Given the description of an element on the screen output the (x, y) to click on. 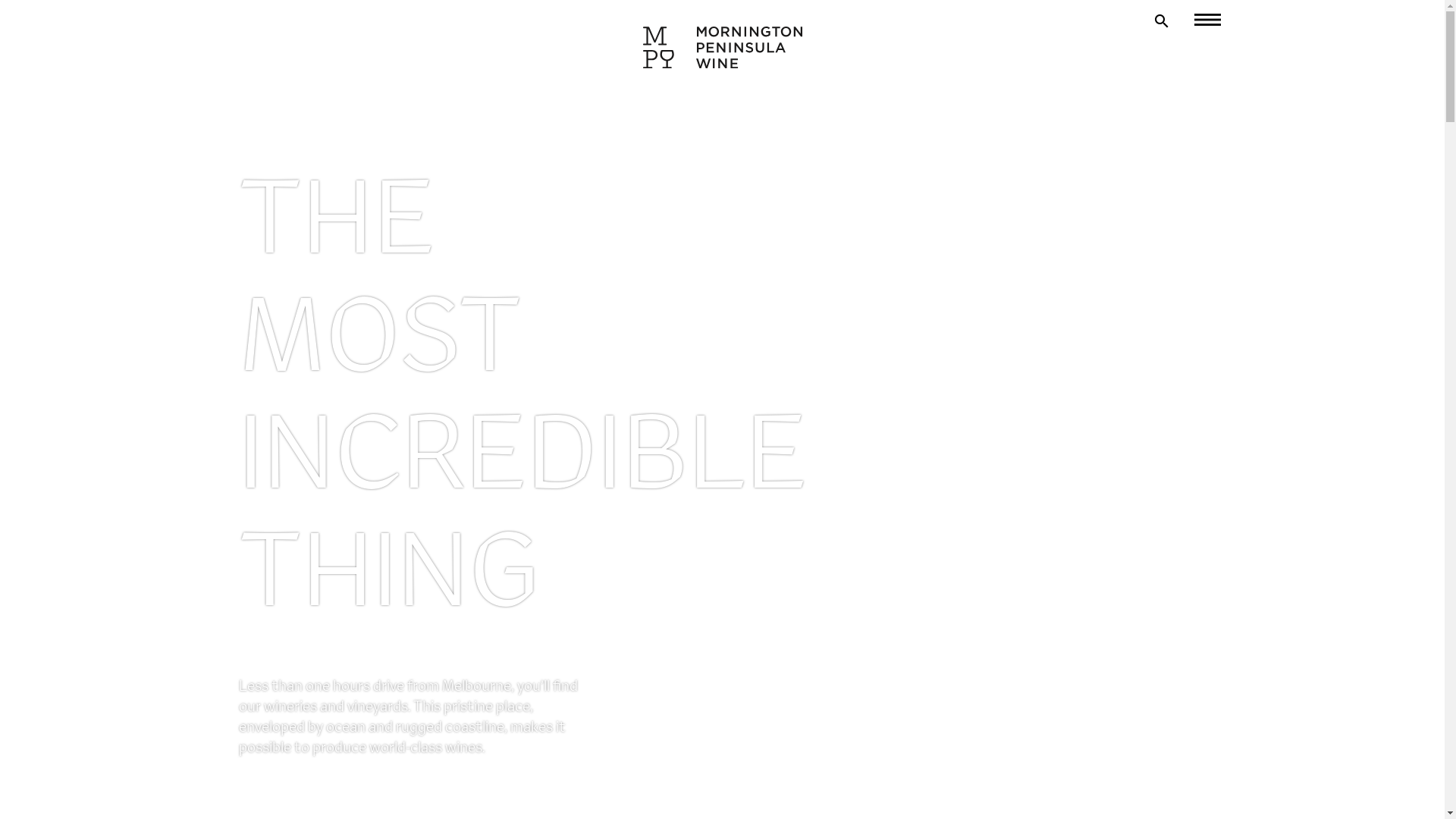
MPW_Brand_Ideogram_Logotype_Mono Element type: text (722, 47)
Toggle navigation Element type: text (1197, 19)
